Given the description of an element on the screen output the (x, y) to click on. 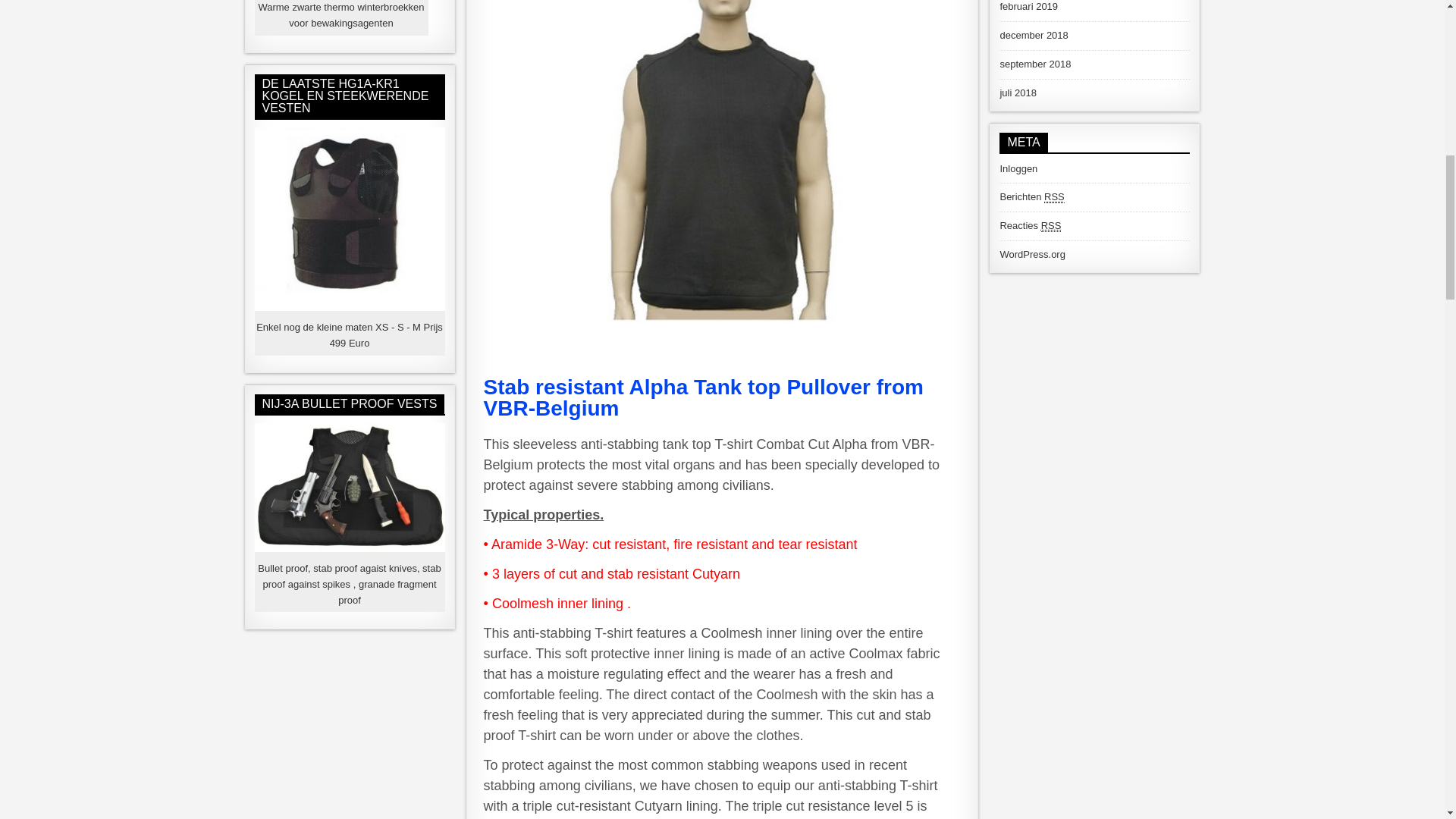
Really Simple Syndication (1051, 225)
Really Simple Syndication (1053, 196)
Mogelijk gemaakt door WordPress. (1031, 254)
